Given the description of an element on the screen output the (x, y) to click on. 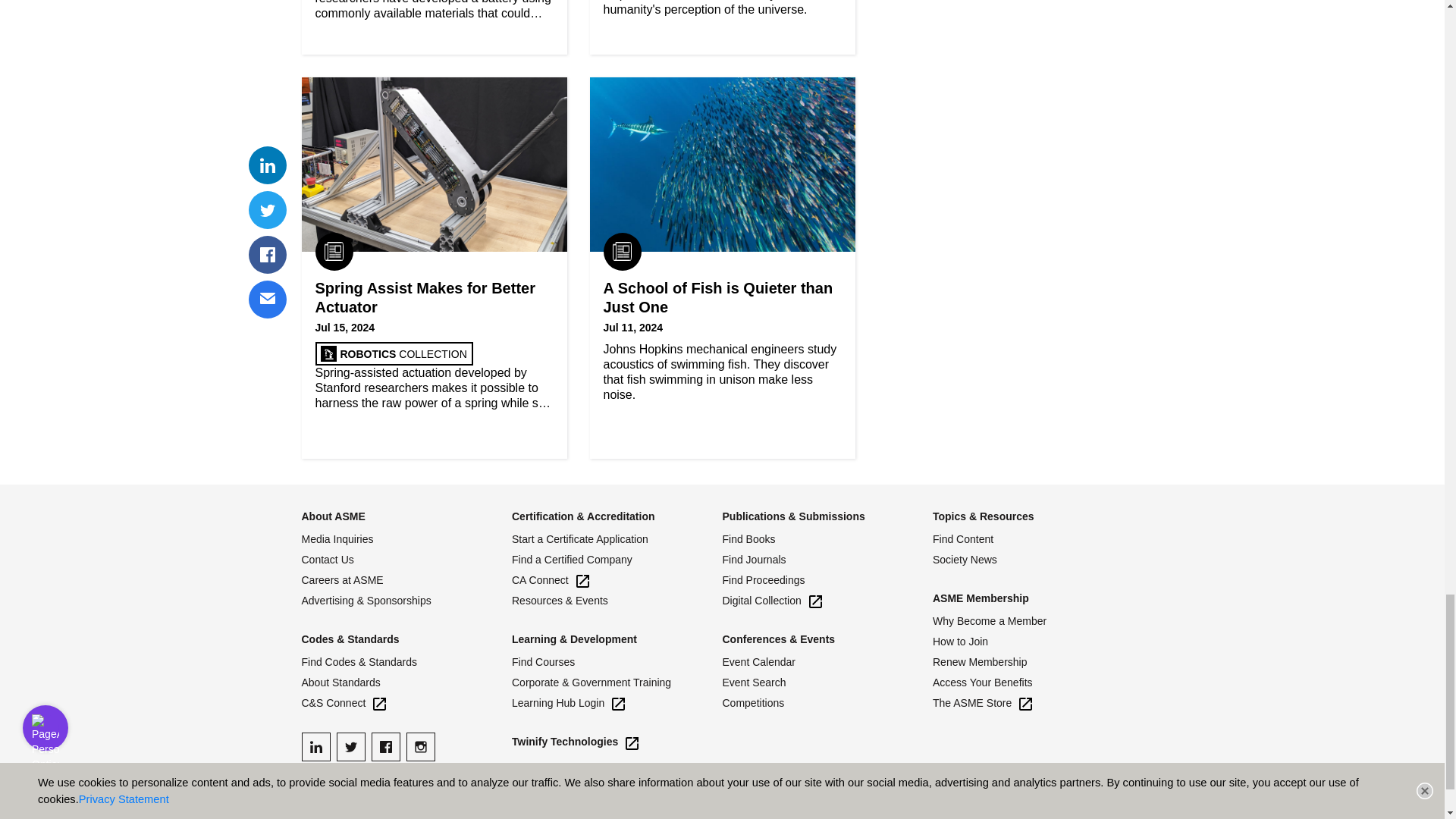
ASME on Facebook (385, 746)
ASME on Instagram (420, 746)
ASME on LinkedIn (315, 746)
ASME on Twitter (350, 746)
About ASME (333, 516)
